Given the description of an element on the screen output the (x, y) to click on. 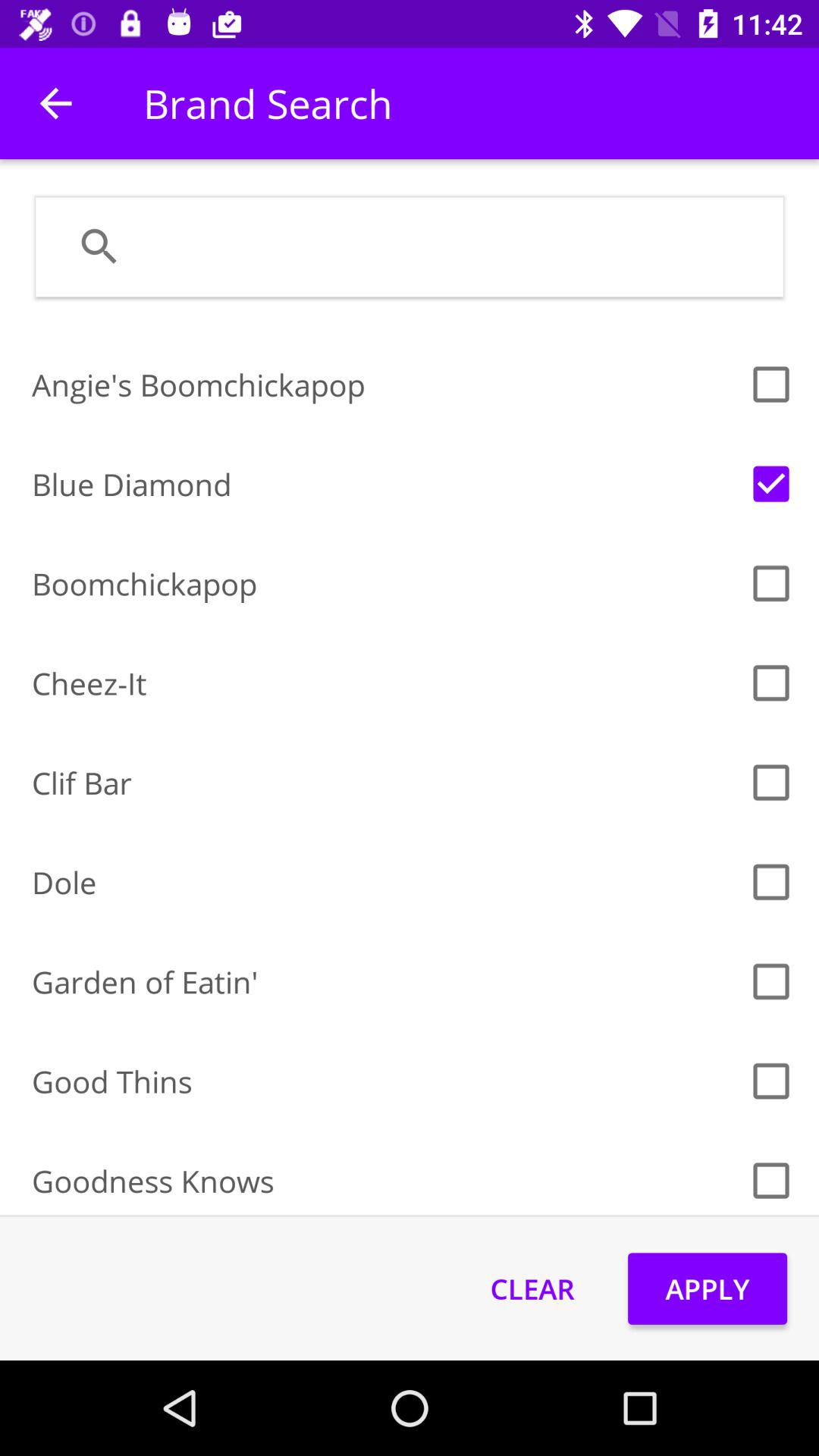
press the item to the left of the apply (531, 1288)
